Given the description of an element on the screen output the (x, y) to click on. 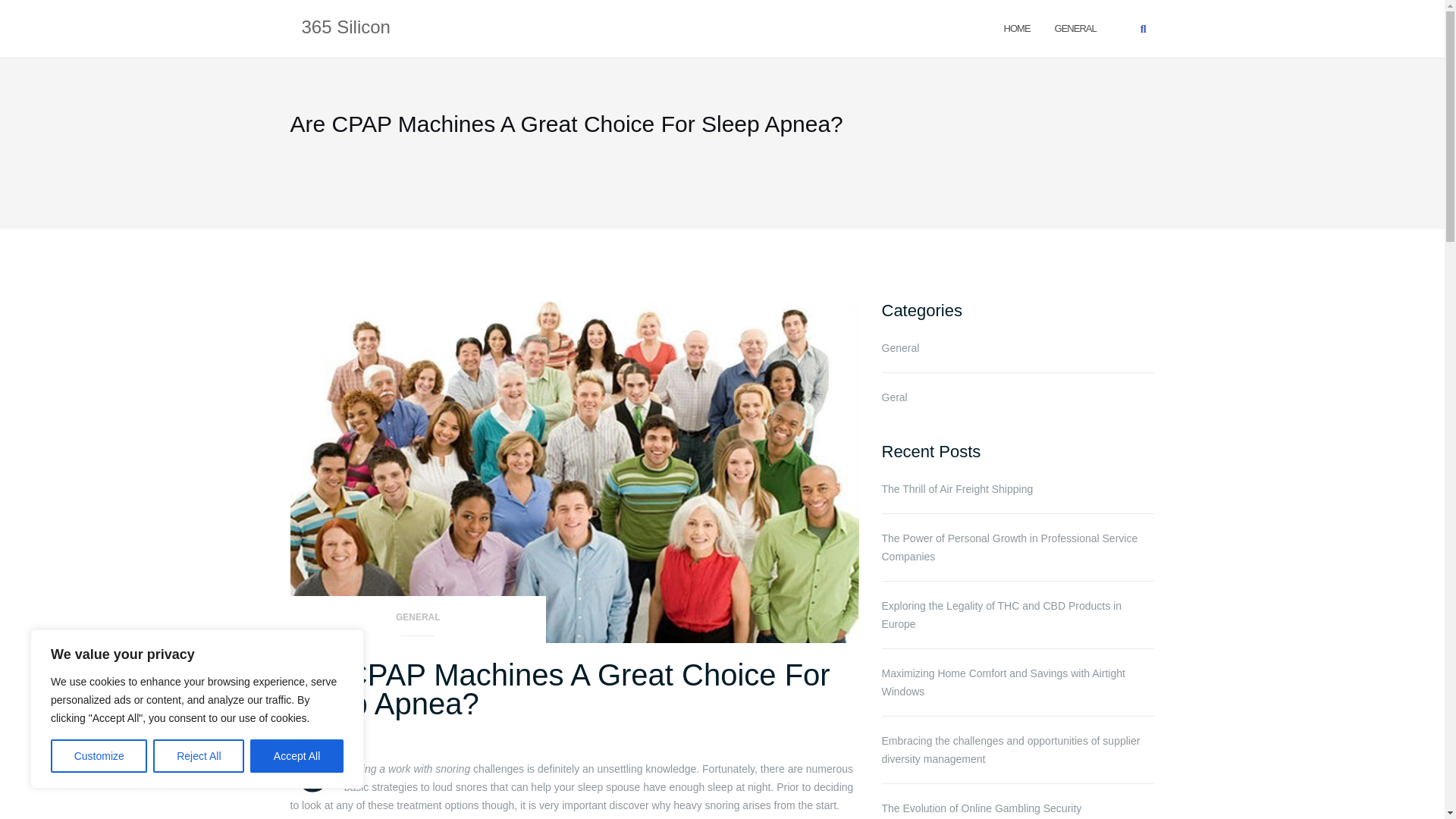
Are CPAP Machines A Great Choice For Sleep Apnea? (559, 689)
GENERAL (417, 622)
Accept All (296, 756)
General (1075, 28)
HOME (1017, 28)
Home (1017, 28)
365 Silicon (345, 28)
GENERAL (1075, 28)
Customize (98, 756)
Reject All (198, 756)
